Given the description of an element on the screen output the (x, y) to click on. 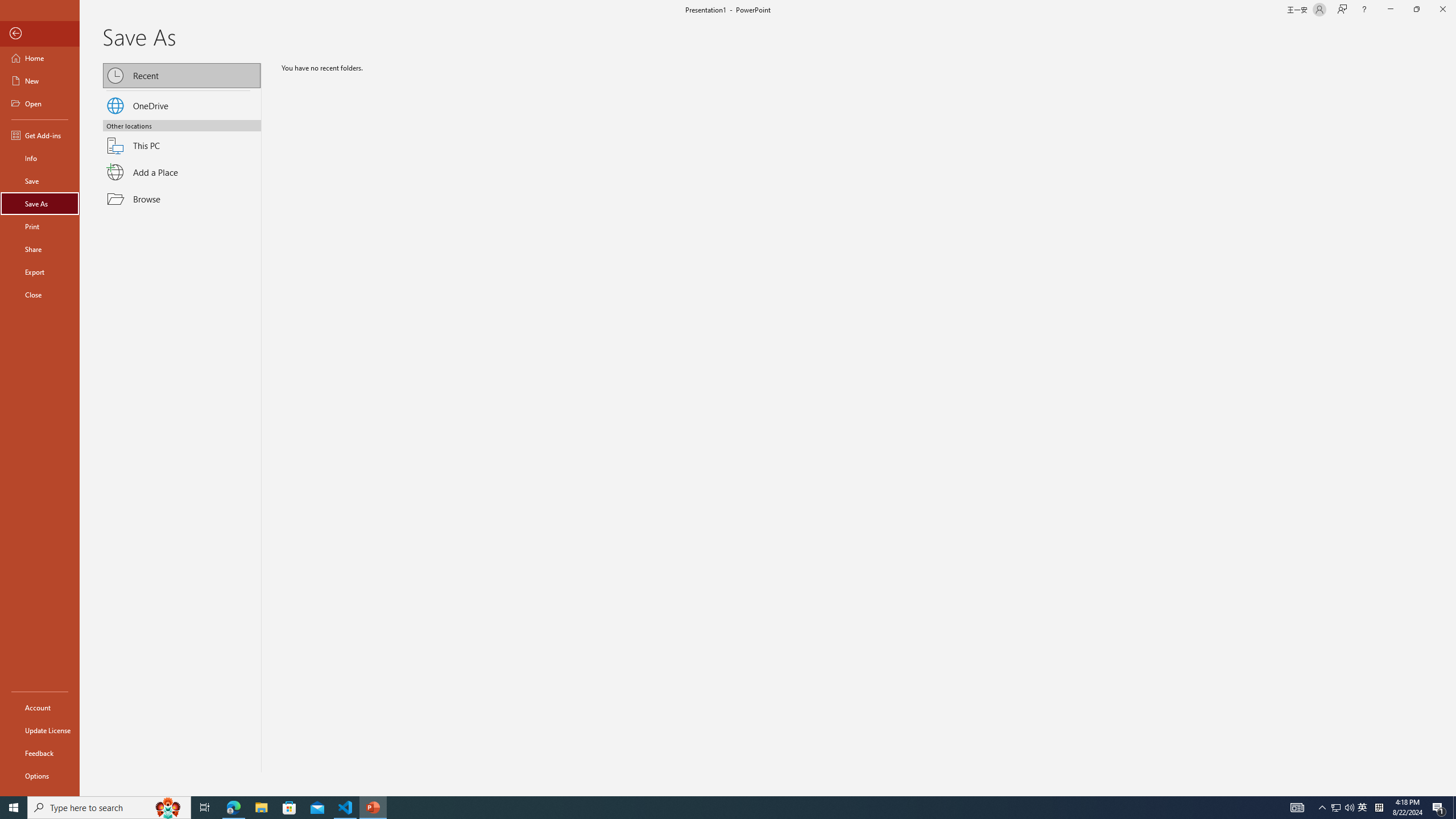
Browse (182, 198)
Saving Features (182, 423)
Options (40, 775)
Print (40, 225)
New (40, 80)
Get Add-ins (40, 134)
Back (40, 33)
This PC (182, 139)
Feedback (40, 753)
